Given the description of an element on the screen output the (x, y) to click on. 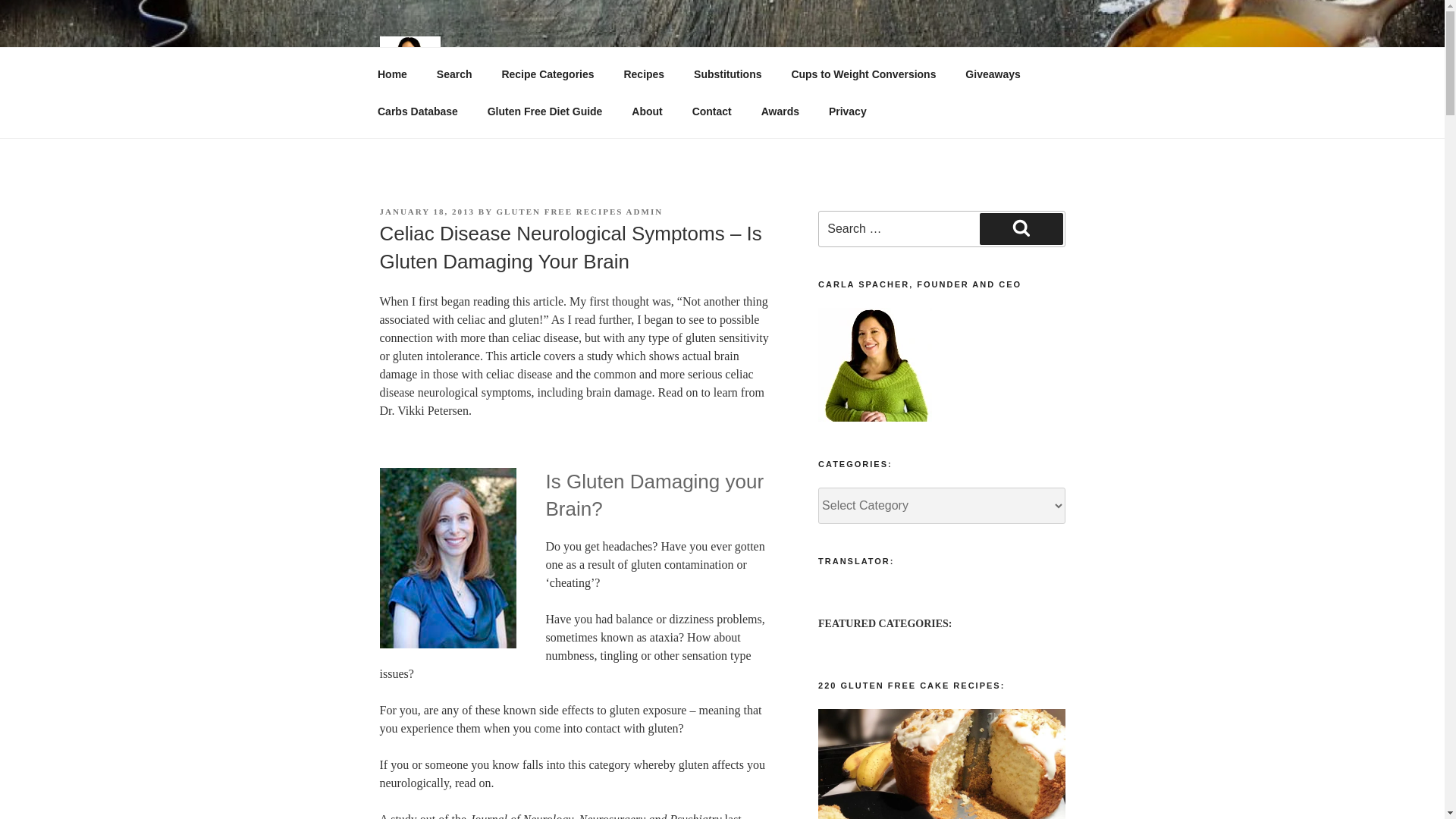
Gluten Free Diet Guide (544, 110)
Search (453, 74)
JANUARY 18, 2013 (426, 211)
Carbs Database (417, 110)
Substitutions (727, 74)
Contact (711, 110)
Privacy (847, 110)
About (646, 110)
GLUTEN FREE RECIPES ADMIN (579, 211)
Awards (780, 110)
Recipes (644, 74)
Giveaways (992, 74)
Recipe Categories (547, 74)
Home (392, 74)
CARLA'S GLUTEN FREE RECIPE BOX (748, 60)
